Given the description of an element on the screen output the (x, y) to click on. 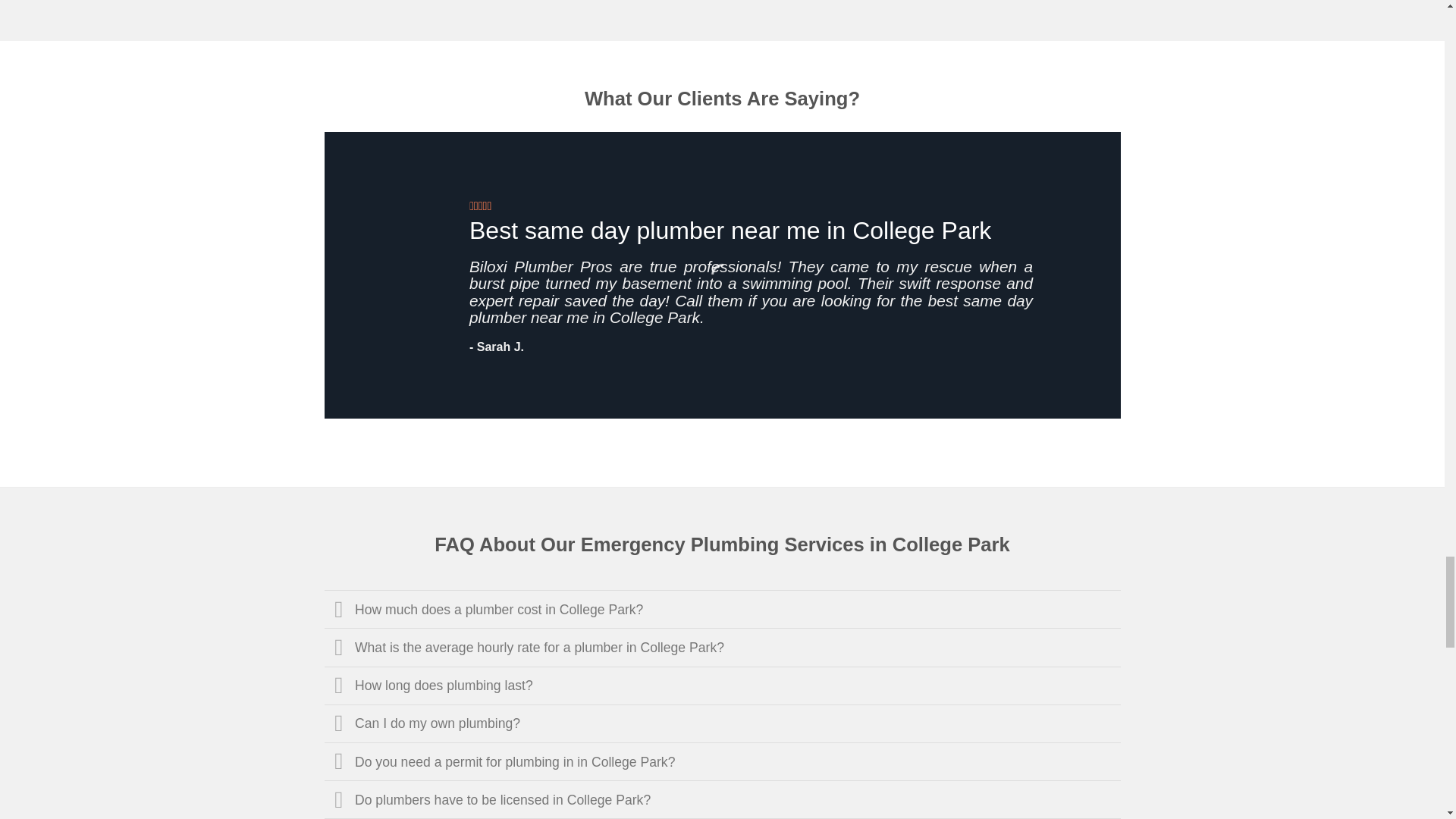
Do you need a permit for plumbing in in College Park? (722, 761)
How long does plumbing last? (722, 684)
Do plumbers have to be licensed in College Park? (722, 799)
How much does a plumber cost in College Park? (722, 608)
Can I do my own plumbing? (722, 723)
